Given the description of an element on the screen output the (x, y) to click on. 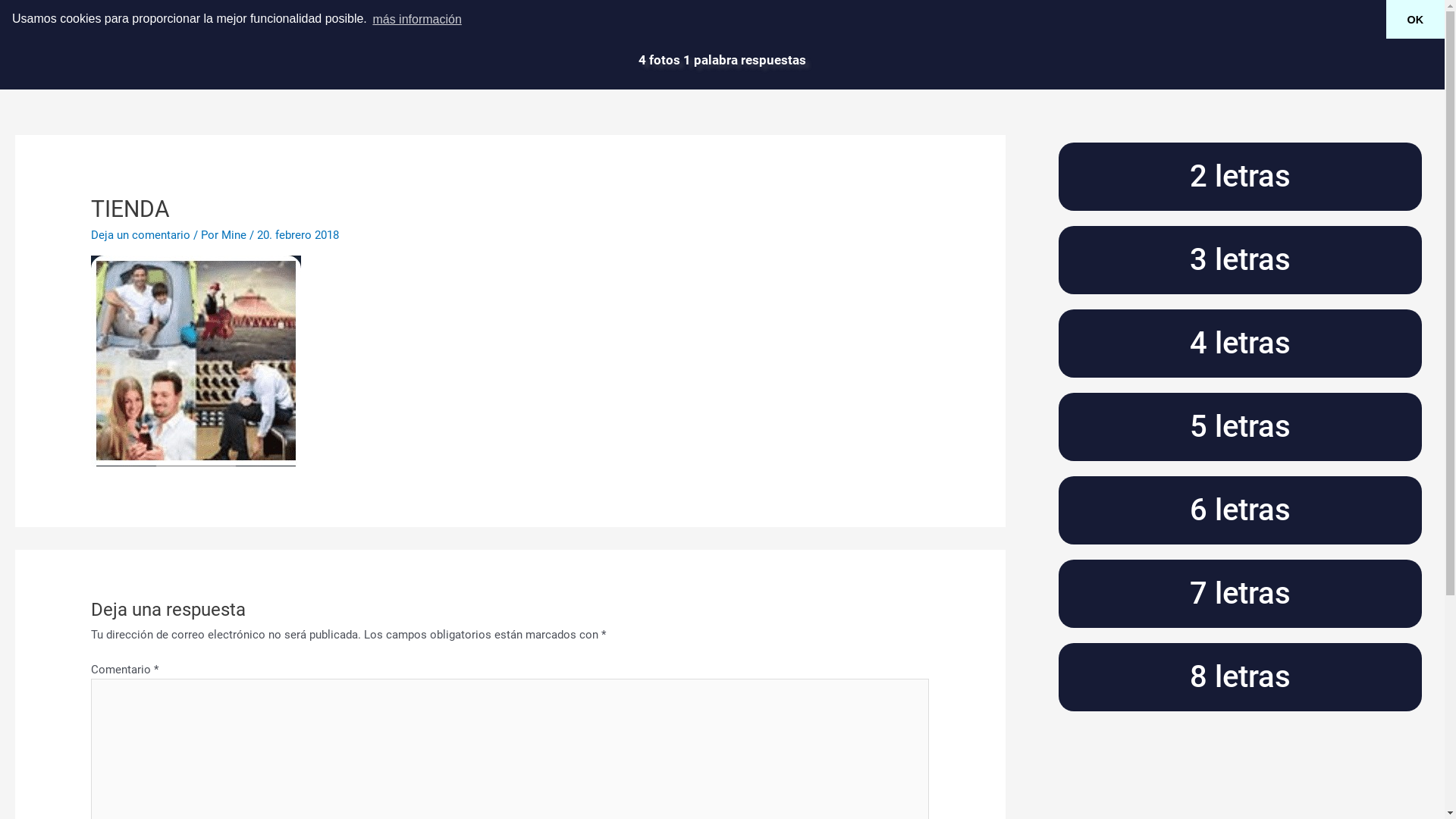
7 letras Element type: text (1240, 593)
8 letras Element type: text (1240, 677)
2 letras Element type: text (1240, 176)
OK Element type: text (1415, 19)
3 letras Element type: text (1240, 259)
5 letras Element type: text (1240, 426)
Deja un comentario Element type: text (140, 234)
4 fotos 1 palabra respuestas Element type: text (722, 59)
6 letras Element type: text (1240, 510)
4 letras Element type: text (1240, 343)
Mine Element type: text (235, 234)
